Given the description of an element on the screen output the (x, y) to click on. 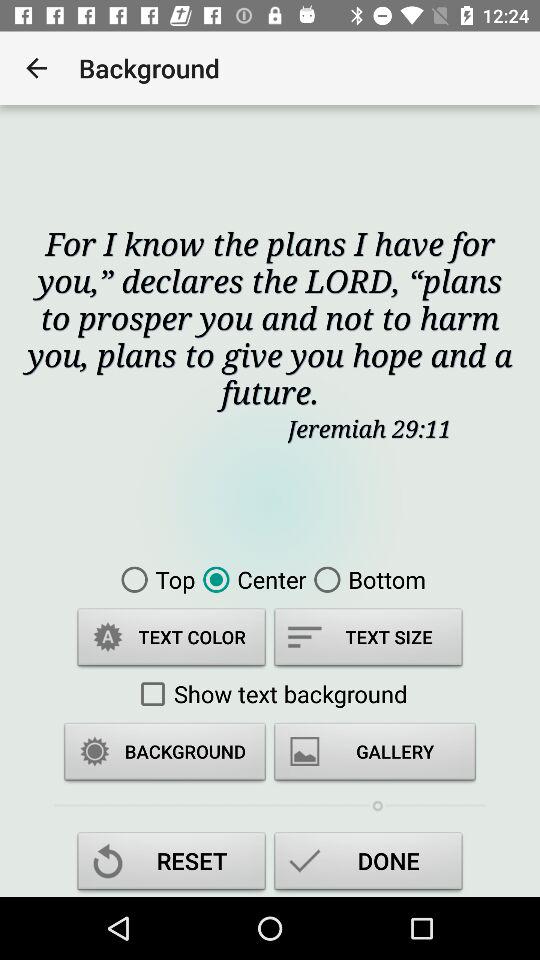
choose the done item (368, 863)
